Given the description of an element on the screen output the (x, y) to click on. 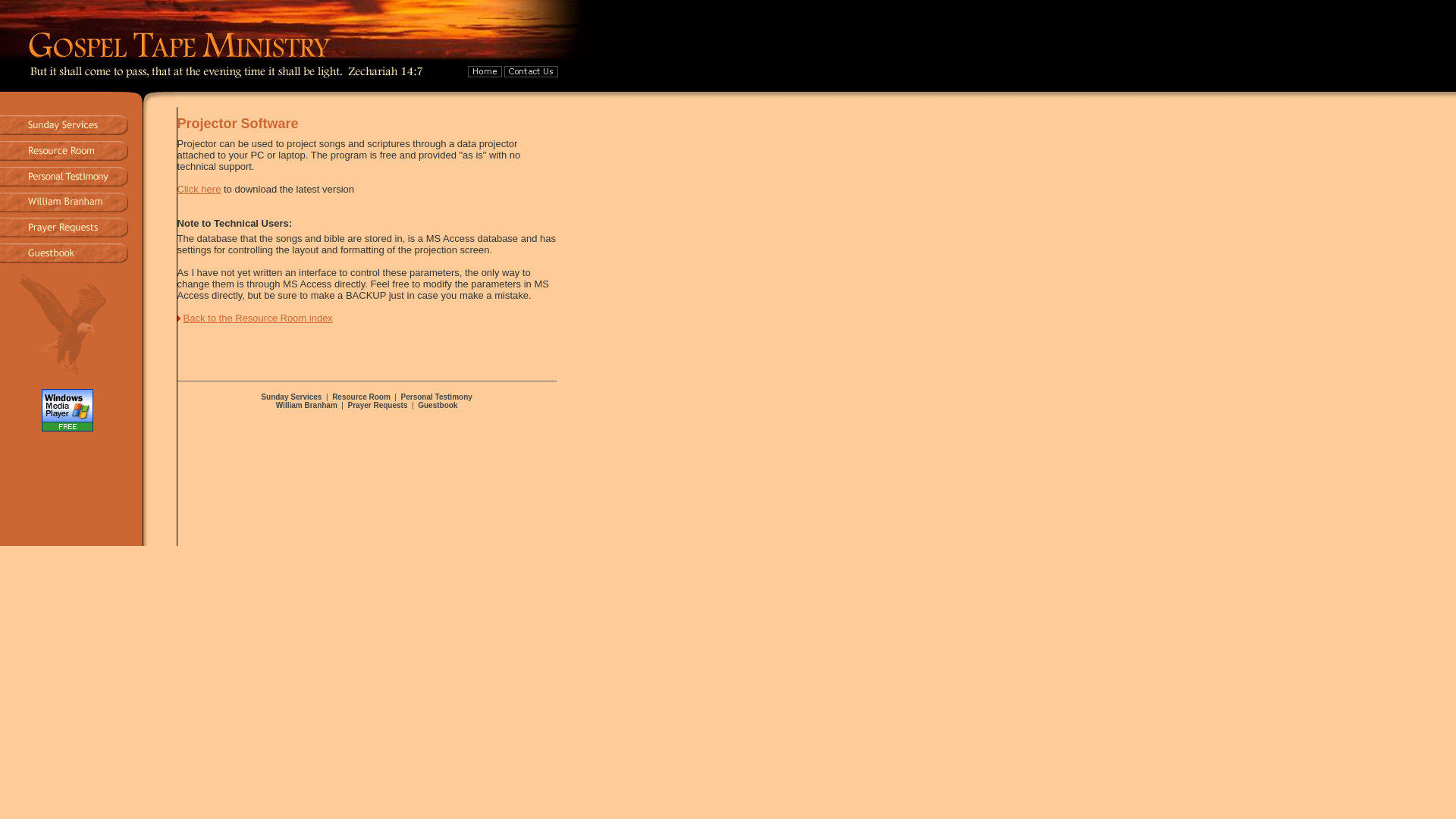
Resource Room (360, 397)
Sunday Services (290, 397)
Guestbook (437, 405)
Personal Testimony (436, 397)
Back to the Resource Room index (255, 317)
Prayer Requests (377, 405)
William Branham (306, 405)
Click here (199, 188)
